Given the description of an element on the screen output the (x, y) to click on. 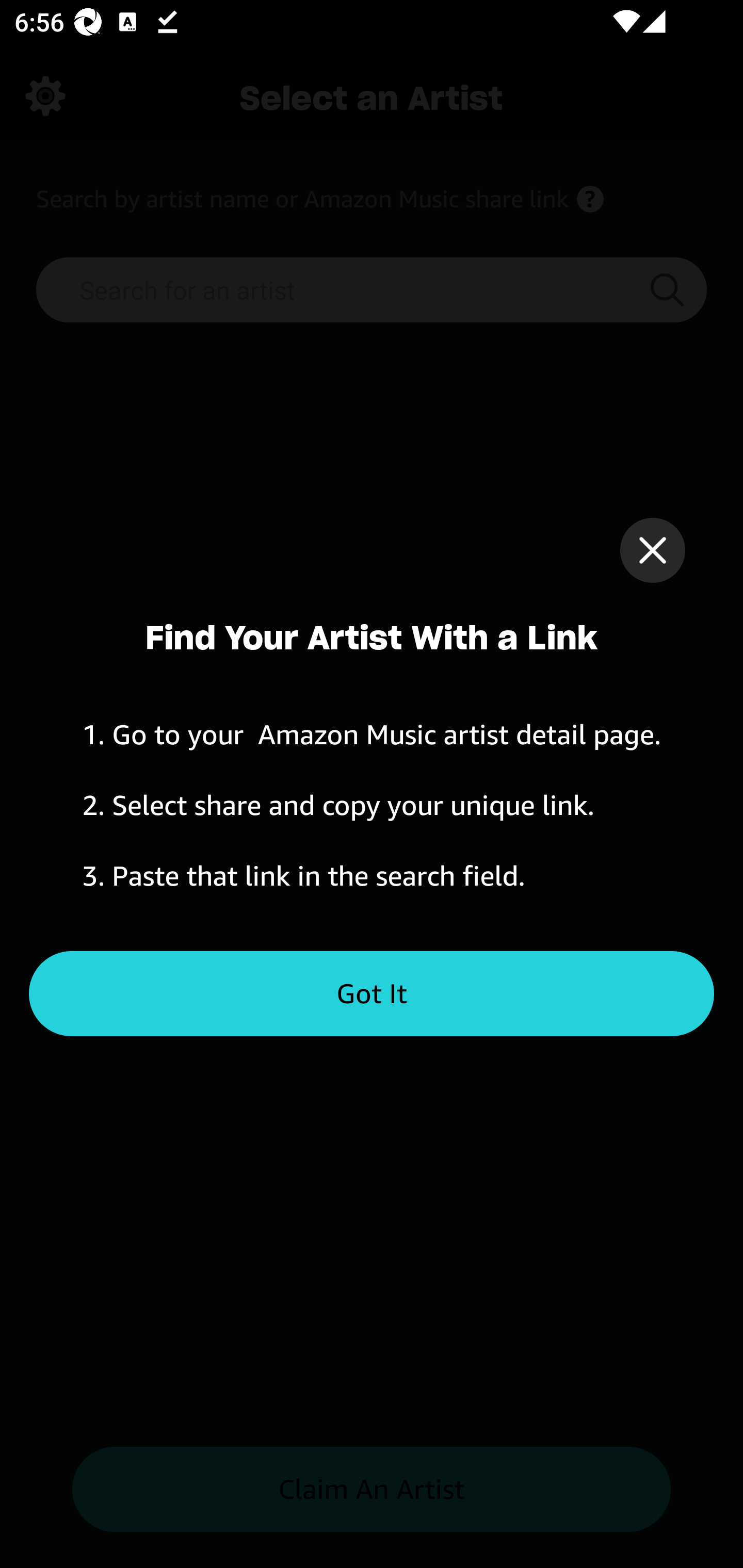
Generic_dismiss  icon (652, 550)
Got it button Got It (371, 993)
